Given the description of an element on the screen output the (x, y) to click on. 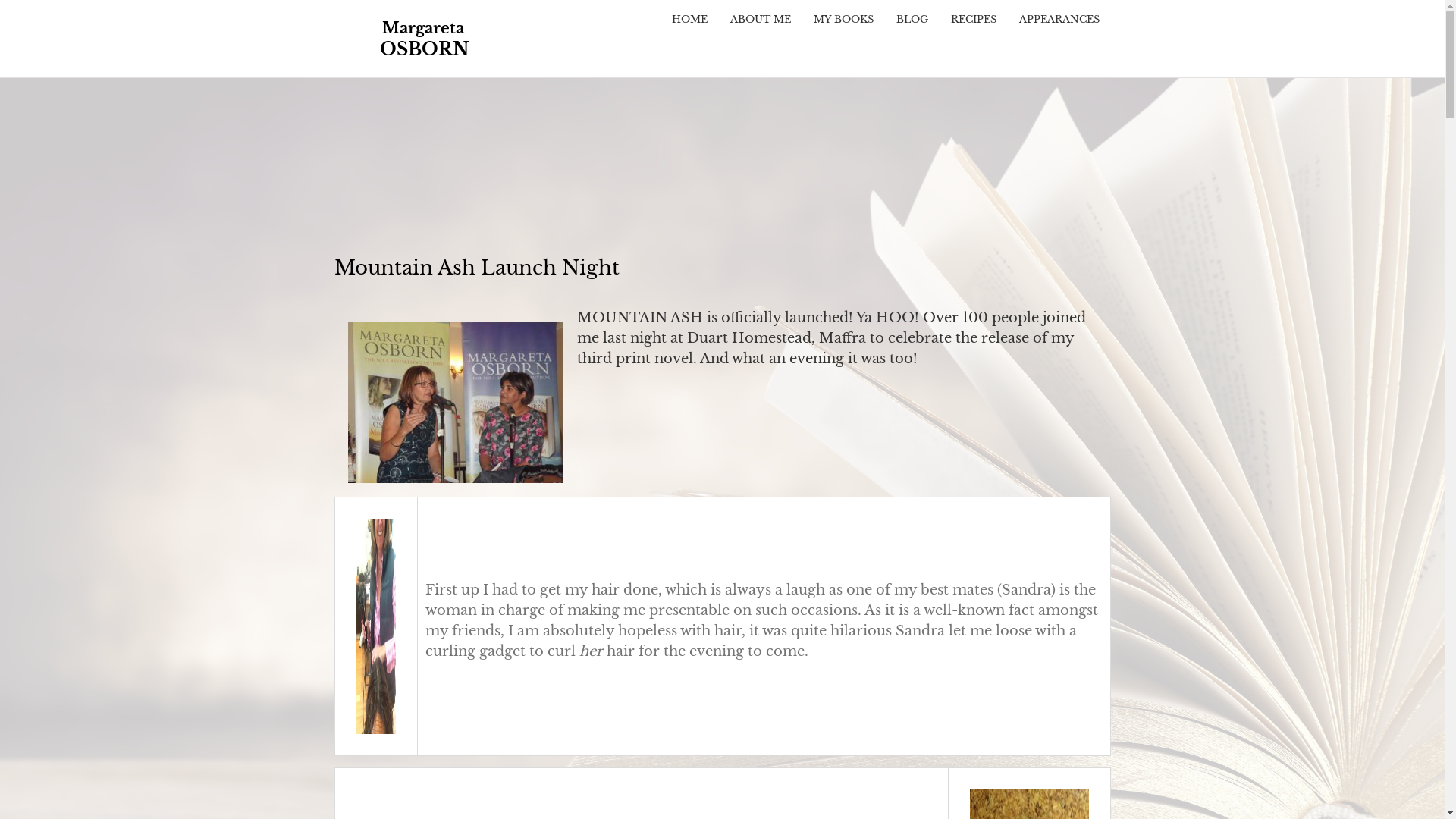
ABOUT ME Element type: text (760, 19)
Home Element type: hover (422, 38)
APPEARANCES Element type: text (1058, 19)
BLOG Element type: text (911, 19)
RECIPES Element type: text (972, 19)
MY BOOKS Element type: text (843, 19)
HOME Element type: text (688, 19)
